Given the description of an element on the screen output the (x, y) to click on. 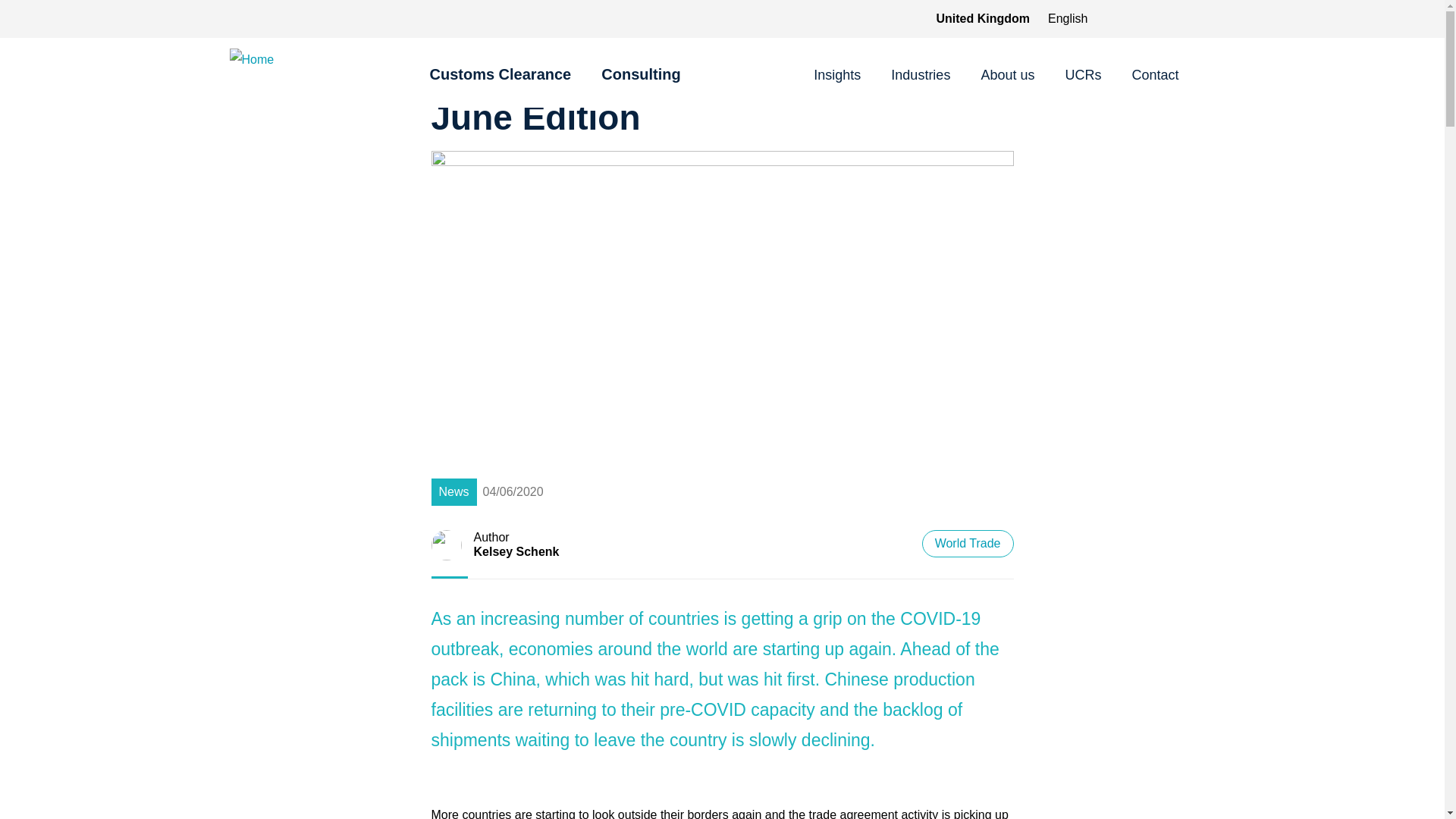
About us (1006, 75)
Customs Clearance (499, 83)
Insights (836, 75)
UCRs (1082, 75)
Consulting (640, 83)
Customs Clearance (499, 83)
Industries (920, 75)
Industries (920, 75)
Consulting services (640, 83)
Insights (836, 75)
Contact (1154, 75)
About us (1006, 75)
